Given the description of an element on the screen output the (x, y) to click on. 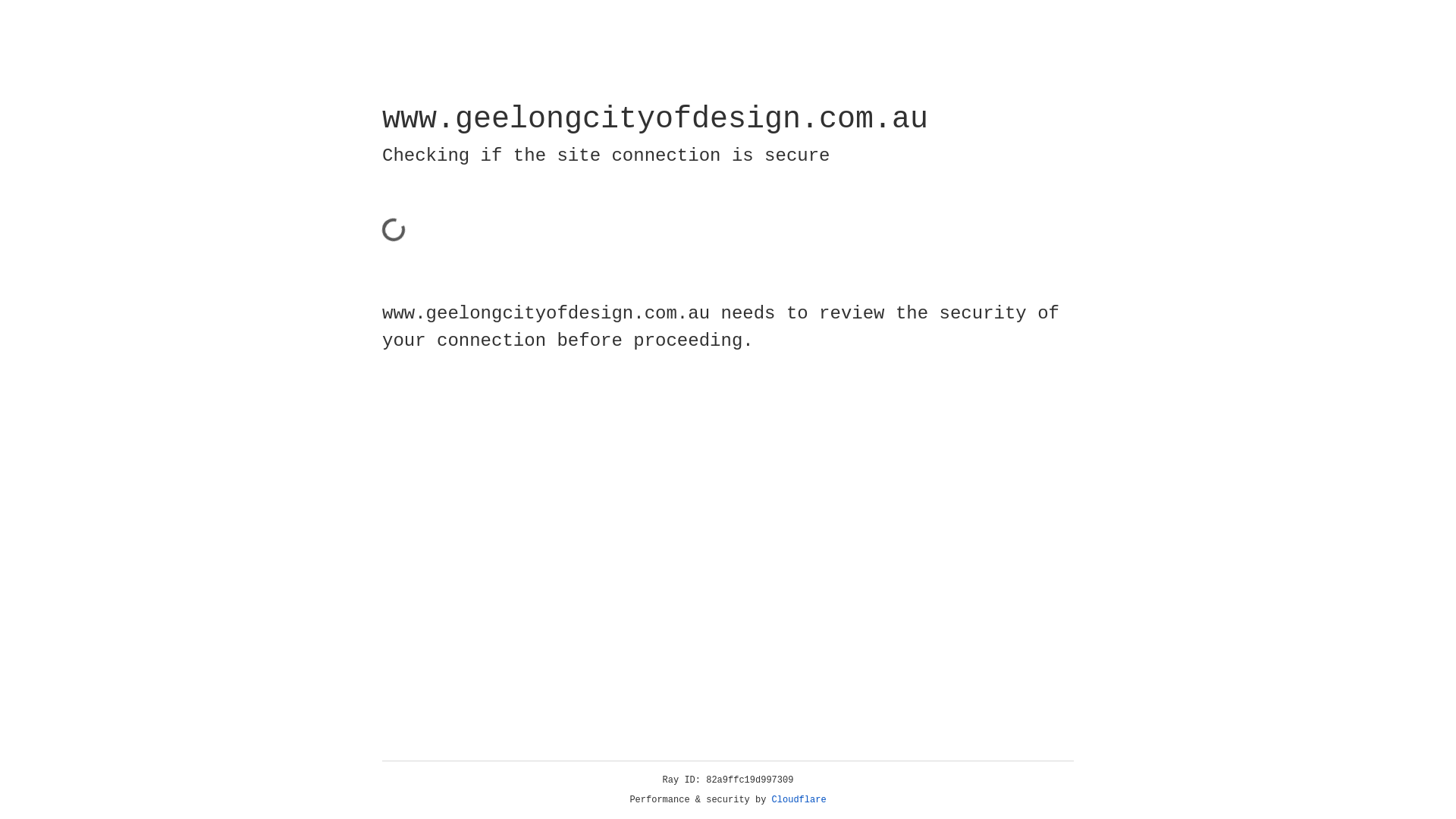
Cloudflare Element type: text (798, 799)
